Given the description of an element on the screen output the (x, y) to click on. 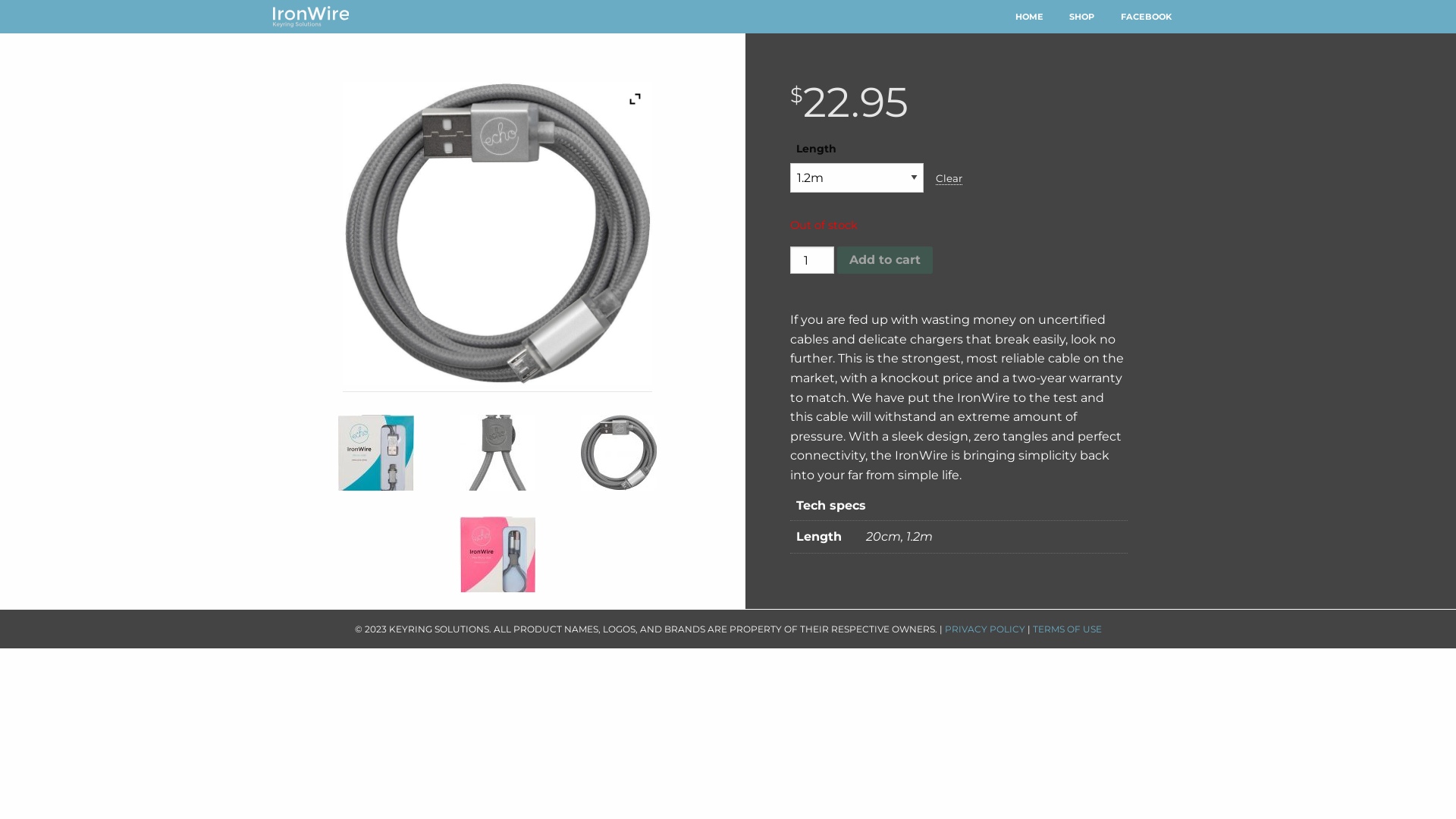
IronWire microUSB Cable Package Element type: hover (375, 452)
SHOP Element type: text (1081, 16)
TERMS OF USE Element type: text (1066, 628)
IronWire Mini microUSB Cable Curled Element type: hover (618, 452)
IronWire Mini microUSB Cable Curled Element type: hover (497, 233)
IronWire microUSB Cable Package Element type: hover (497, 236)
FACEBOOK Element type: text (1145, 16)
PRIVACY POLICY Element type: text (984, 628)
IronWire Mini microUSB Cable Element type: hover (497, 452)
HOME Element type: text (1029, 16)
Add to cart Element type: text (884, 259)
Clear Element type: text (948, 178)
IronWire Mini microUSB Cable Package Element type: hover (497, 554)
